Given the description of an element on the screen output the (x, y) to click on. 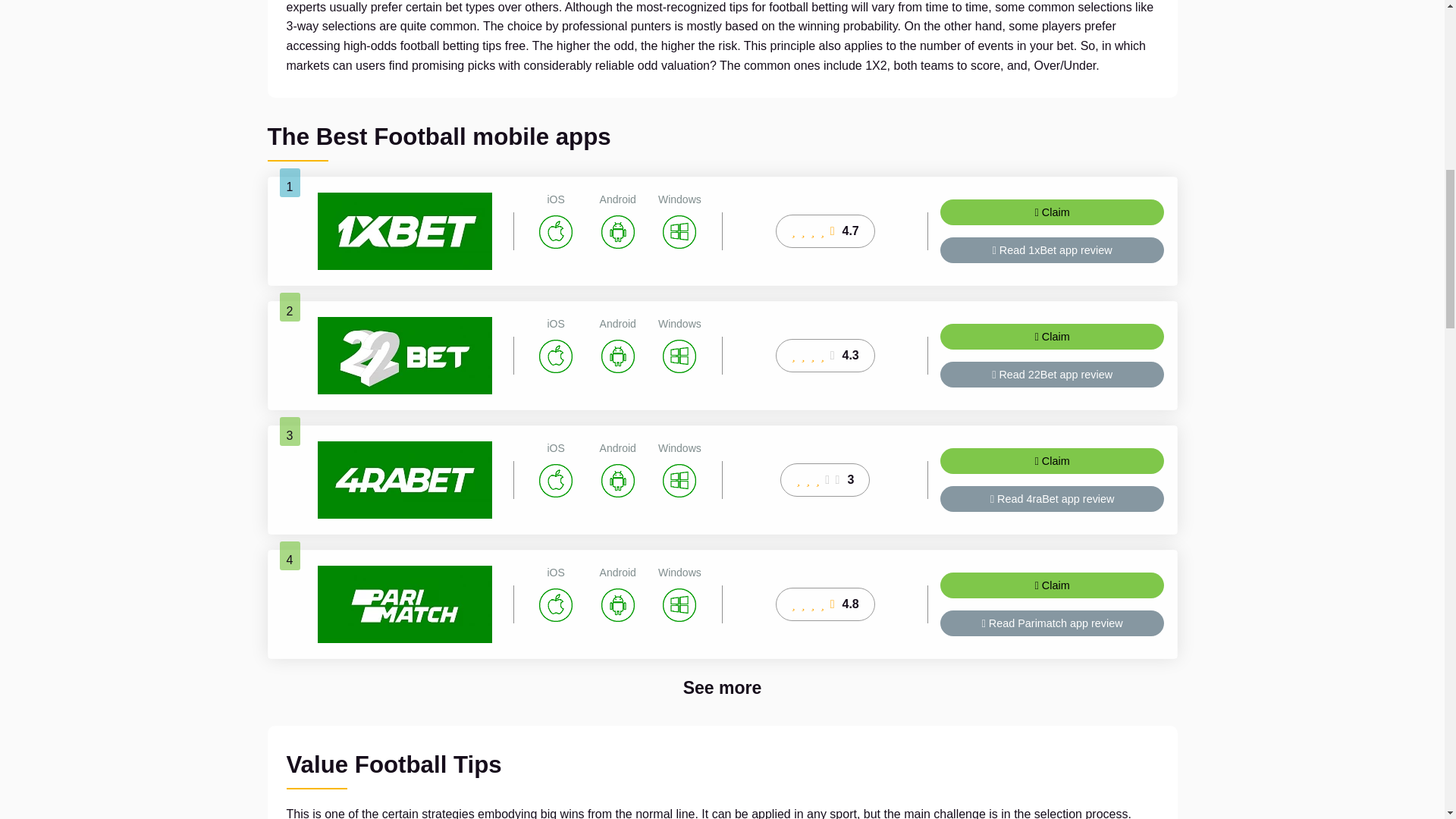
1xBet (404, 231)
Parimatch (404, 603)
22Bet (404, 354)
4raBet (404, 479)
